Given the description of an element on the screen output the (x, y) to click on. 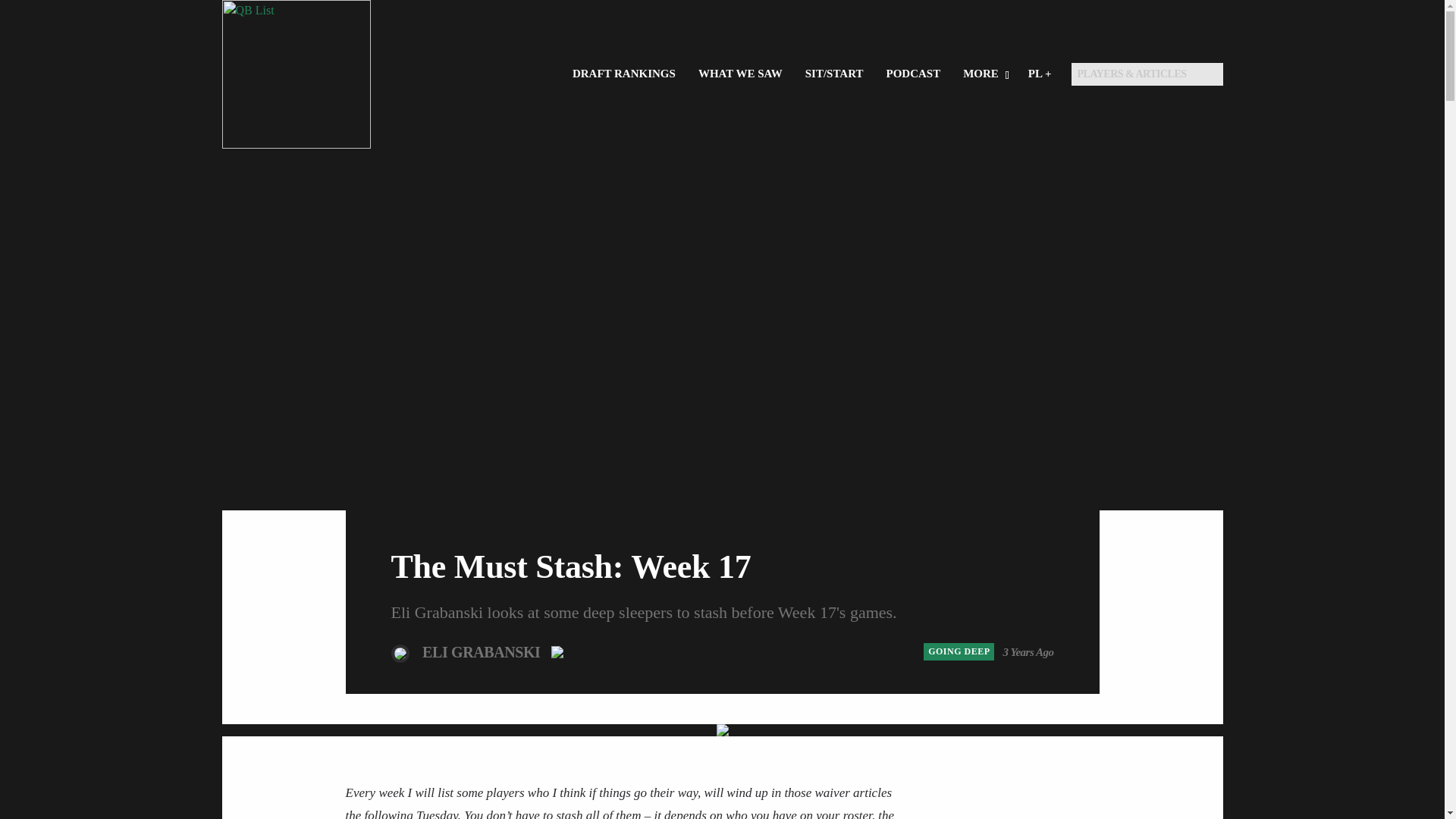
DRAFT RANKINGS (623, 74)
WHAT WE SAW (740, 74)
ELI GRABANSKI (482, 651)
PODCAST (913, 74)
MORE (984, 74)
GOING DEEP (958, 651)
